Given the description of an element on the screen output the (x, y) to click on. 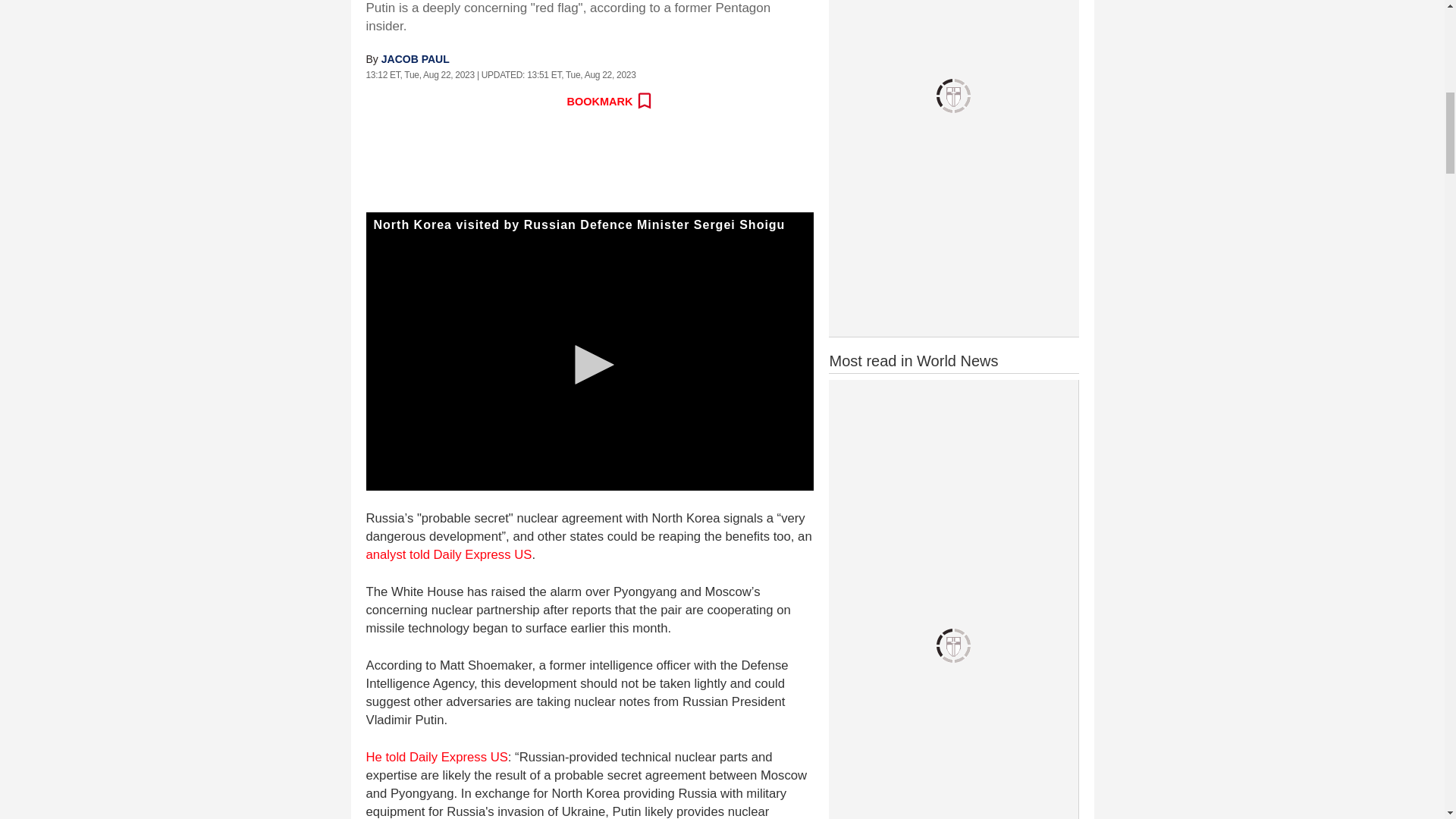
JACOB PAUL (415, 59)
Share on Pinterest (511, 101)
Share on Twitter (411, 101)
Copy link (544, 101)
He told Daily Express US (435, 757)
Share on Reddit (445, 101)
analyst told Daily Express US (448, 554)
Share on Facebook (378, 101)
Share on LinkedIn (478, 101)
